Given the description of an element on the screen output the (x, y) to click on. 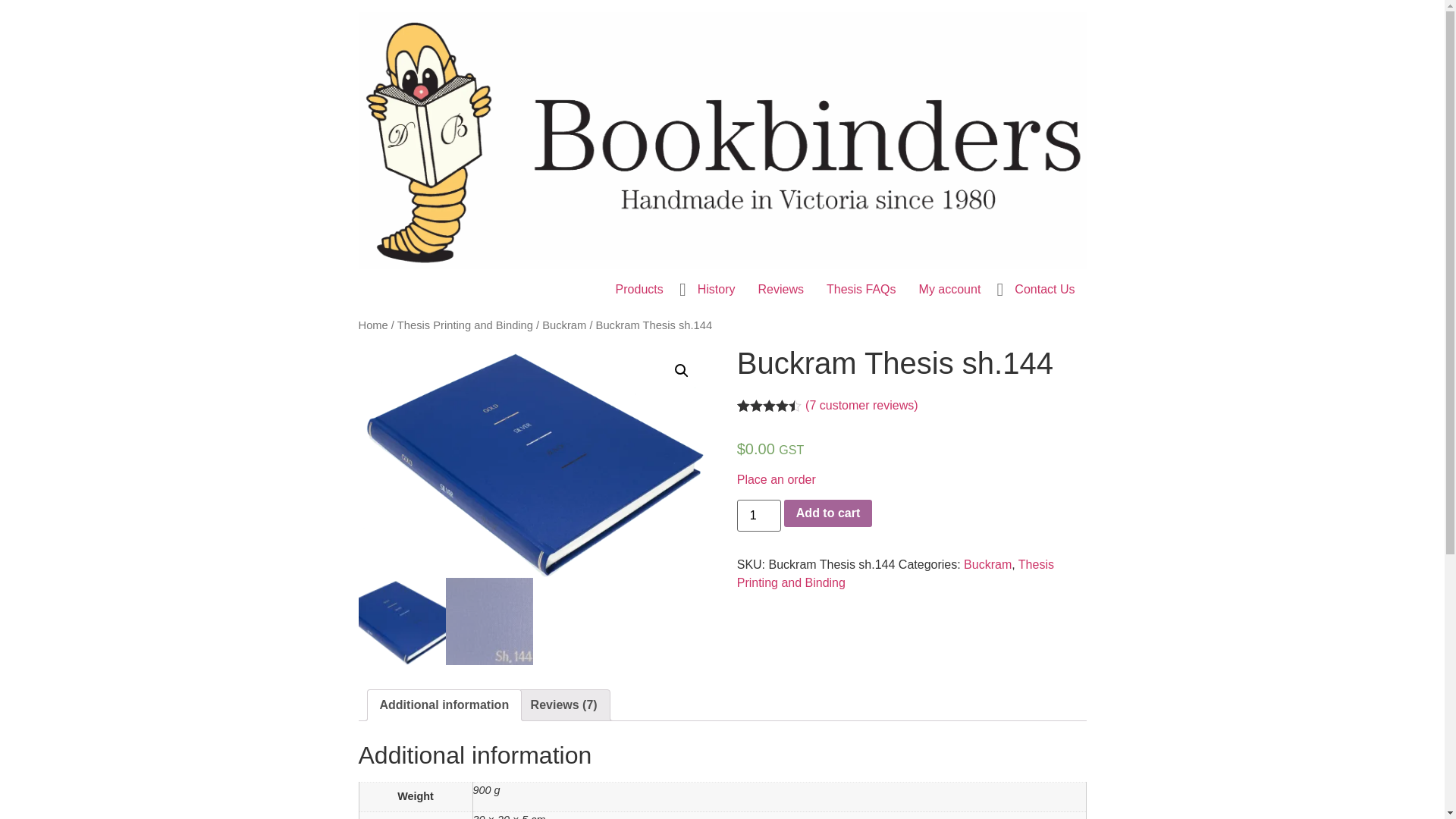
buckram_sh.144 Element type: hover (532, 461)
My account Element type: text (949, 289)
Buckram Element type: text (987, 564)
Thesis Printing and Binding Element type: text (895, 573)
Thesis Printing and Binding Element type: text (465, 325)
Qty Element type: hover (759, 515)
Contact Us Element type: text (1044, 289)
Reviews Element type: text (780, 289)
(7 customer reviews) Element type: text (861, 404)
Additional information Element type: text (443, 705)
Place an order Element type: text (776, 479)
Buckram Element type: text (564, 325)
Reviews (7) Element type: text (563, 705)
Home Element type: text (372, 325)
Add to cart Element type: text (828, 513)
History Element type: text (716, 289)
Products Element type: text (639, 289)
Thesis FAQs Element type: text (861, 289)
